Given the description of an element on the screen output the (x, y) to click on. 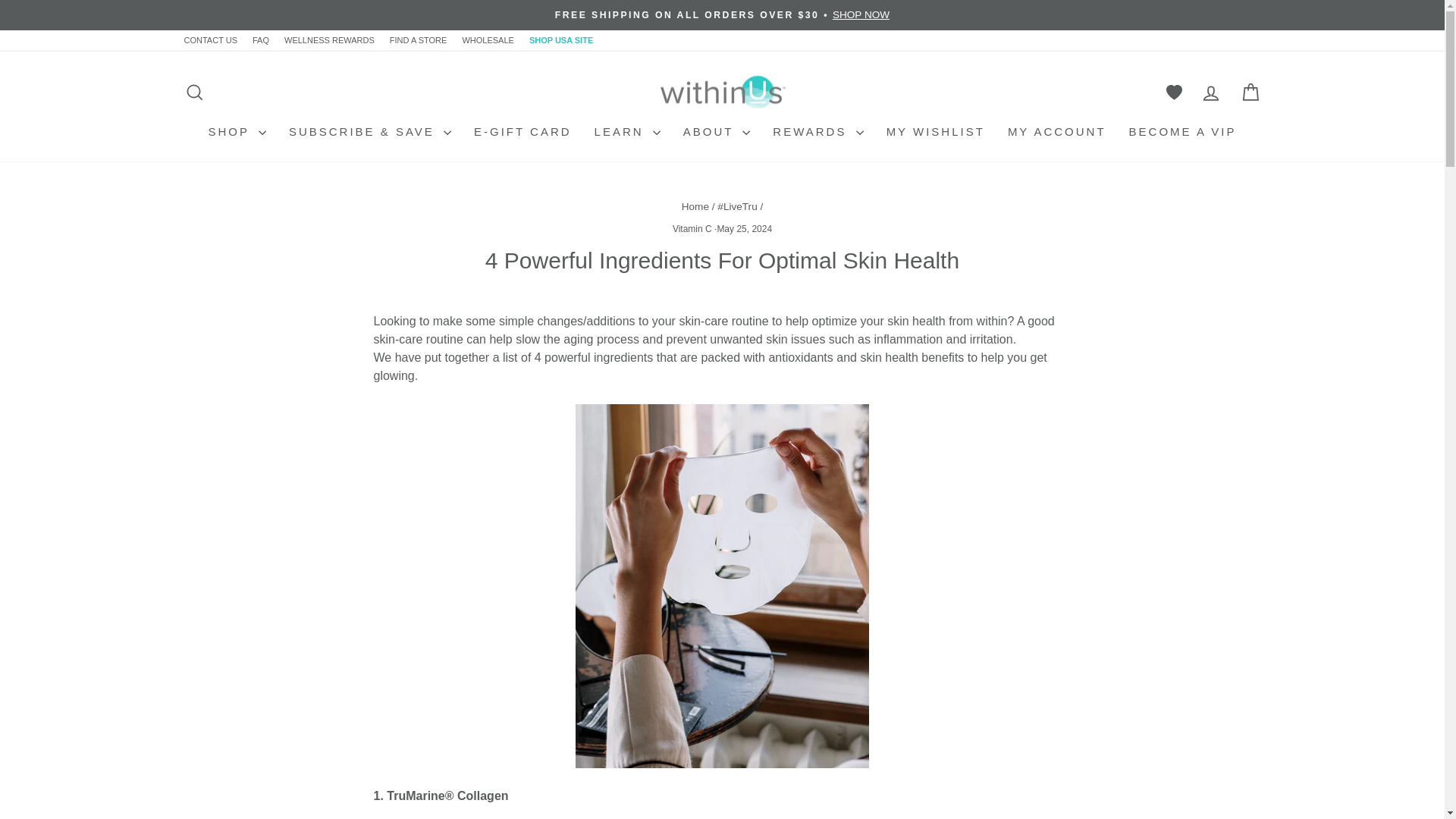
ICON-SEARCH (194, 92)
ACCOUNT (1210, 92)
Back to the frontpage (695, 206)
